Given the description of an element on the screen output the (x, y) to click on. 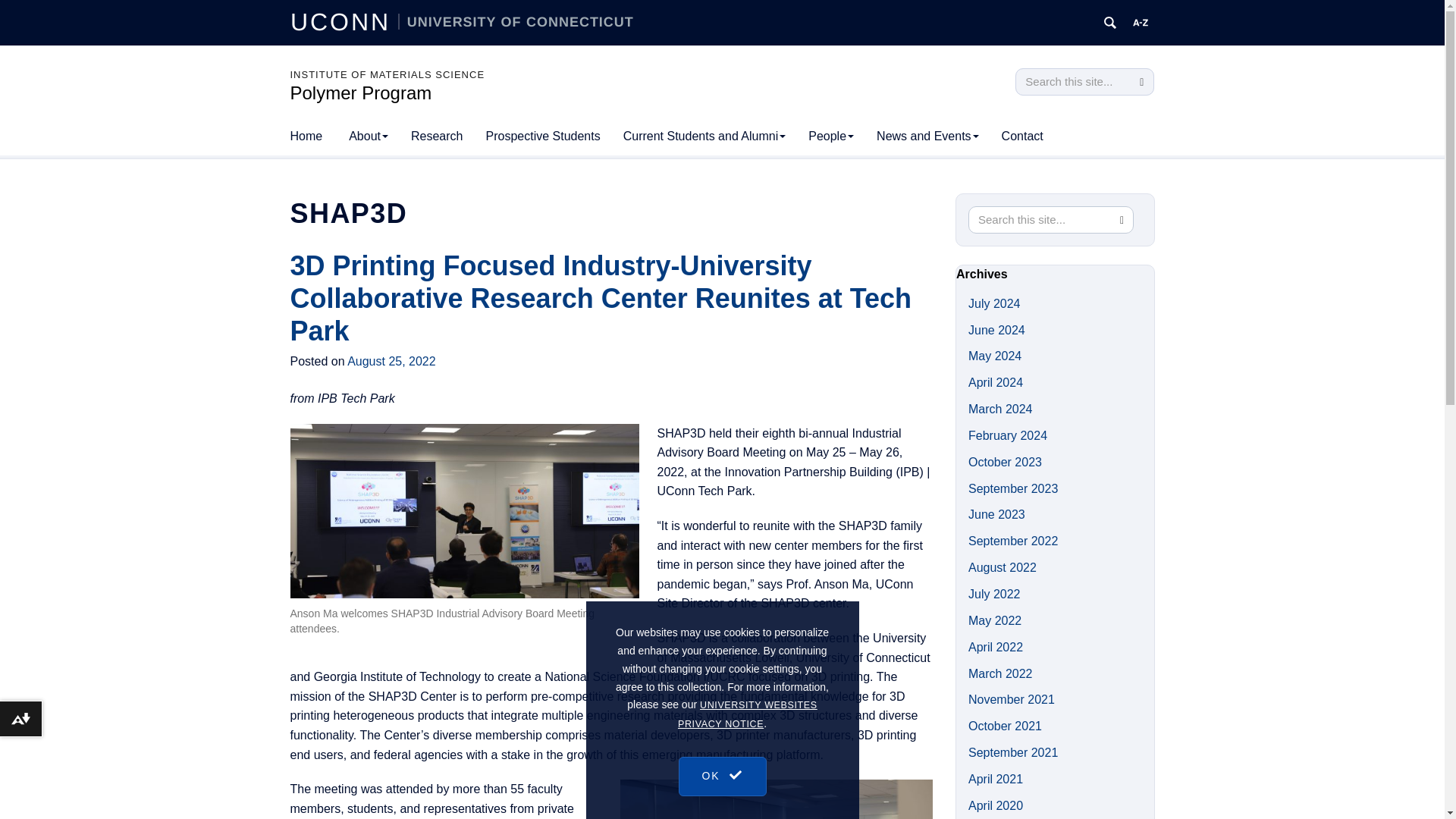
Polymer Program (359, 92)
Contact (1022, 136)
Search UConn (1109, 22)
Search (1141, 81)
UConn A to Z Index (1140, 22)
People (830, 136)
About (367, 136)
News and Events (927, 136)
Search (1141, 81)
Search this site...  (1072, 81)
UNIVERSITY WEBSITES PRIVACY NOTICE (747, 767)
Home (306, 136)
Research (436, 136)
